Given the description of an element on the screen output the (x, y) to click on. 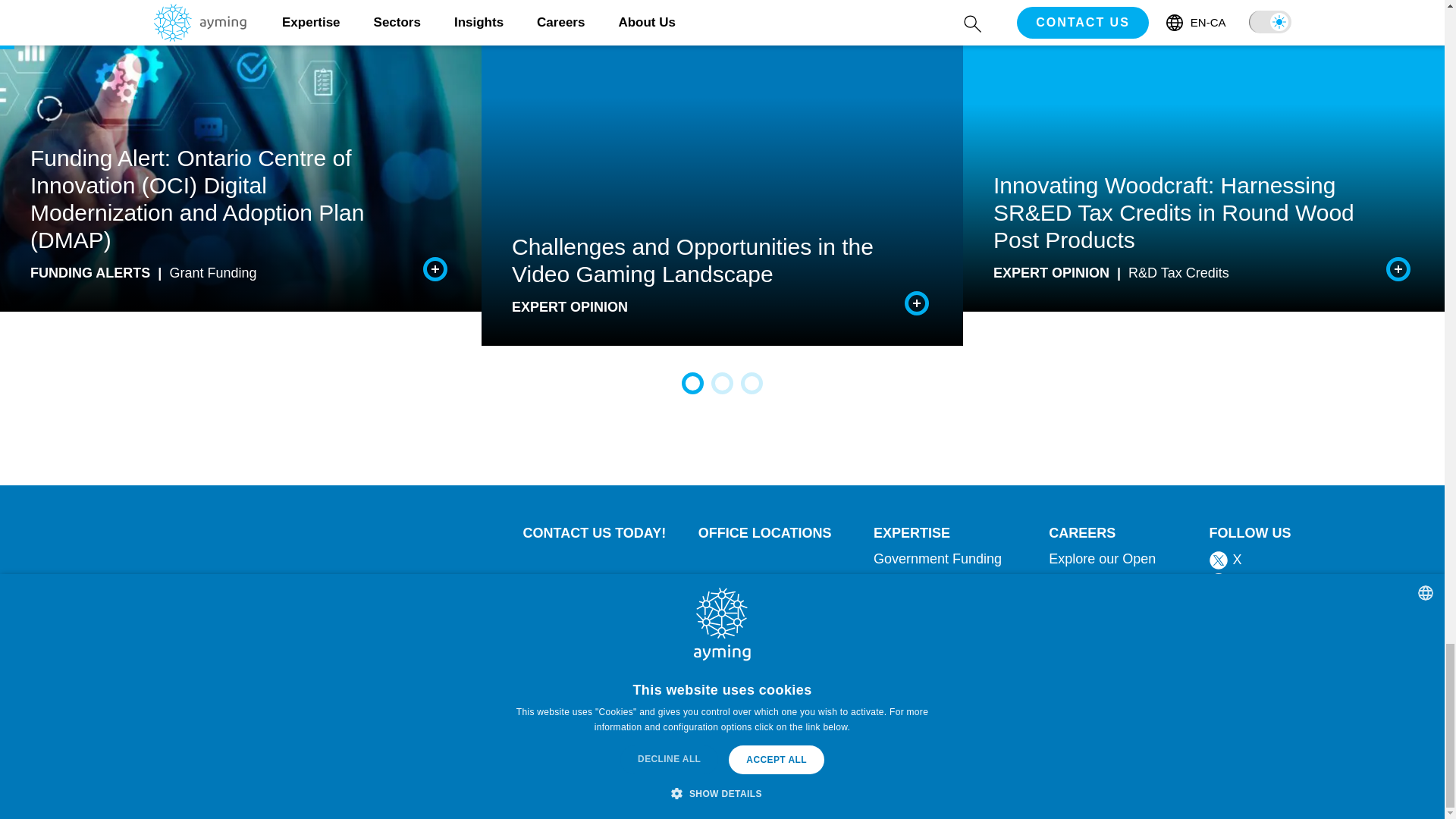
Ayming Canada (223, 744)
